Given the description of an element on the screen output the (x, y) to click on. 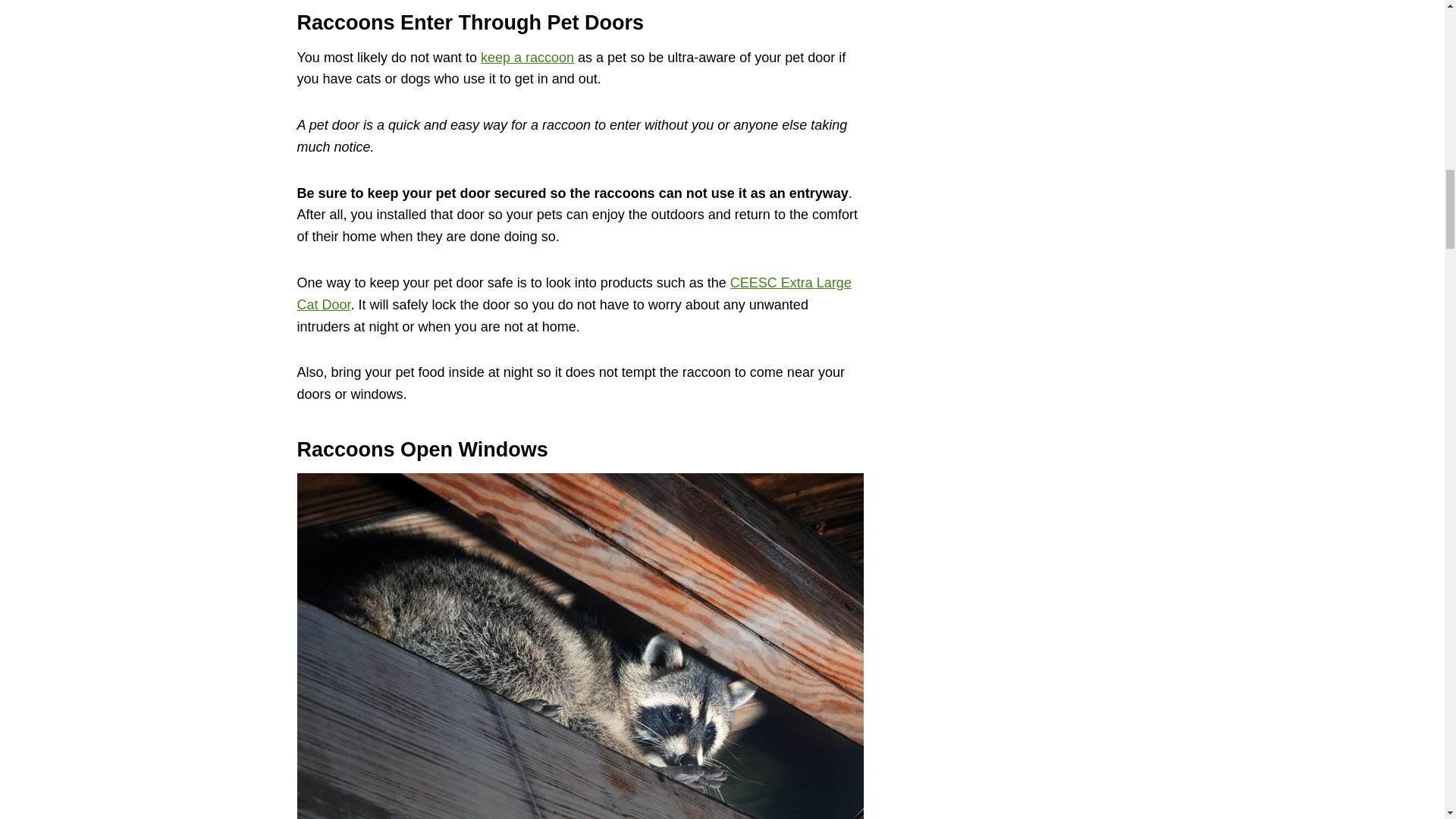
CEESC Extra Large Cat Door (574, 293)
keep a raccoon (526, 57)
